Given the description of an element on the screen output the (x, y) to click on. 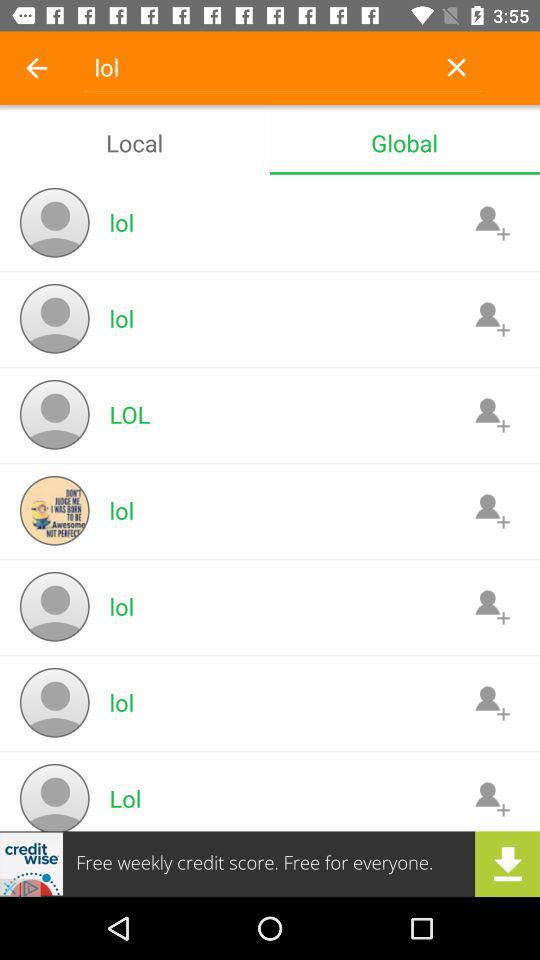
add contact icon (492, 702)
